Given the description of an element on the screen output the (x, y) to click on. 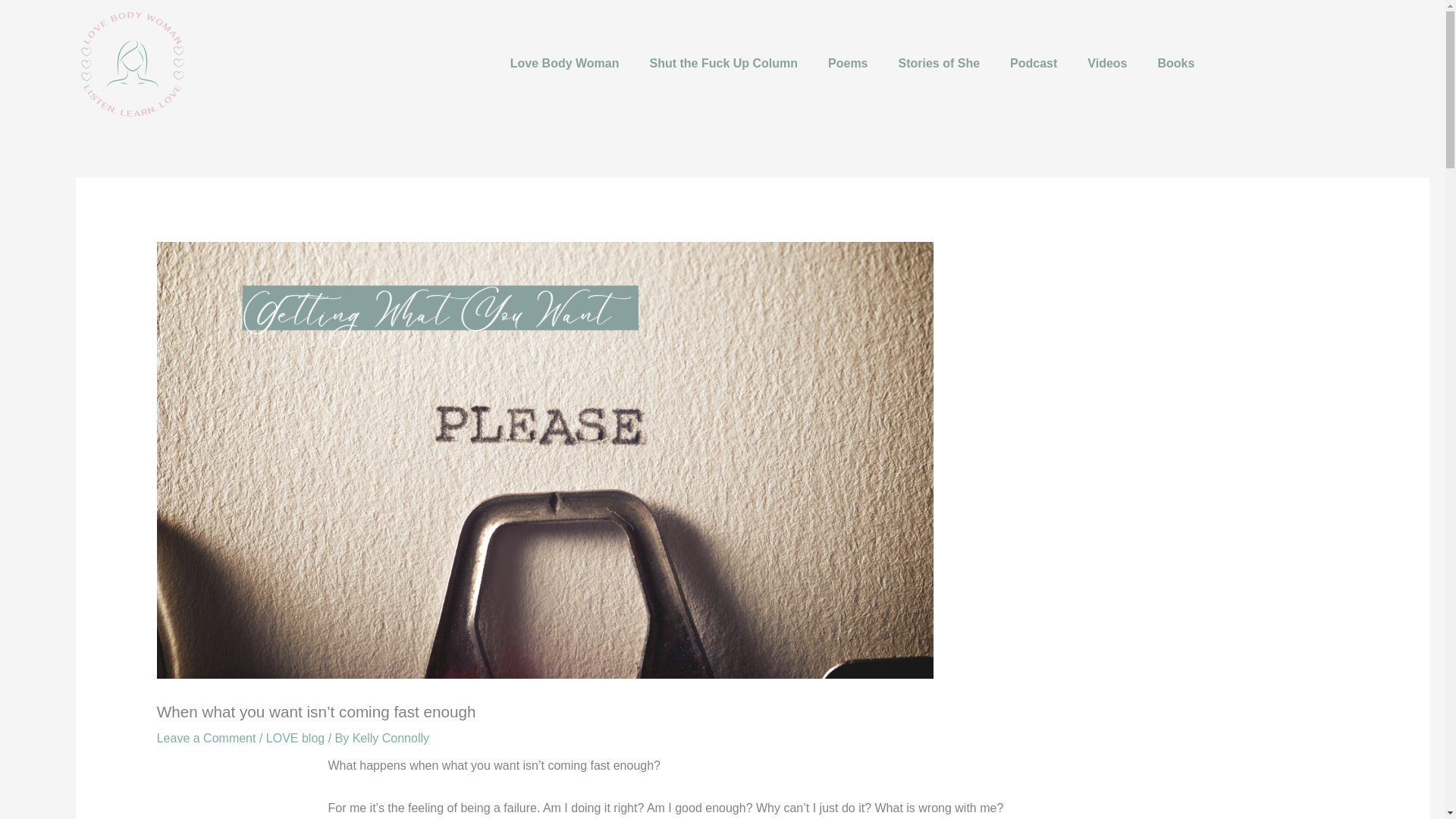
View all posts by Kelly Connolly (390, 738)
Kelly Connolly (390, 738)
Poems (847, 63)
Love Body Woman (564, 63)
Leave a Comment (206, 738)
Podcast (1032, 63)
Shut the Fuck Up Column (723, 63)
LOVE blog (295, 738)
Videos (1107, 63)
Books (1175, 63)
Stories of She (939, 63)
